Given the description of an element on the screen output the (x, y) to click on. 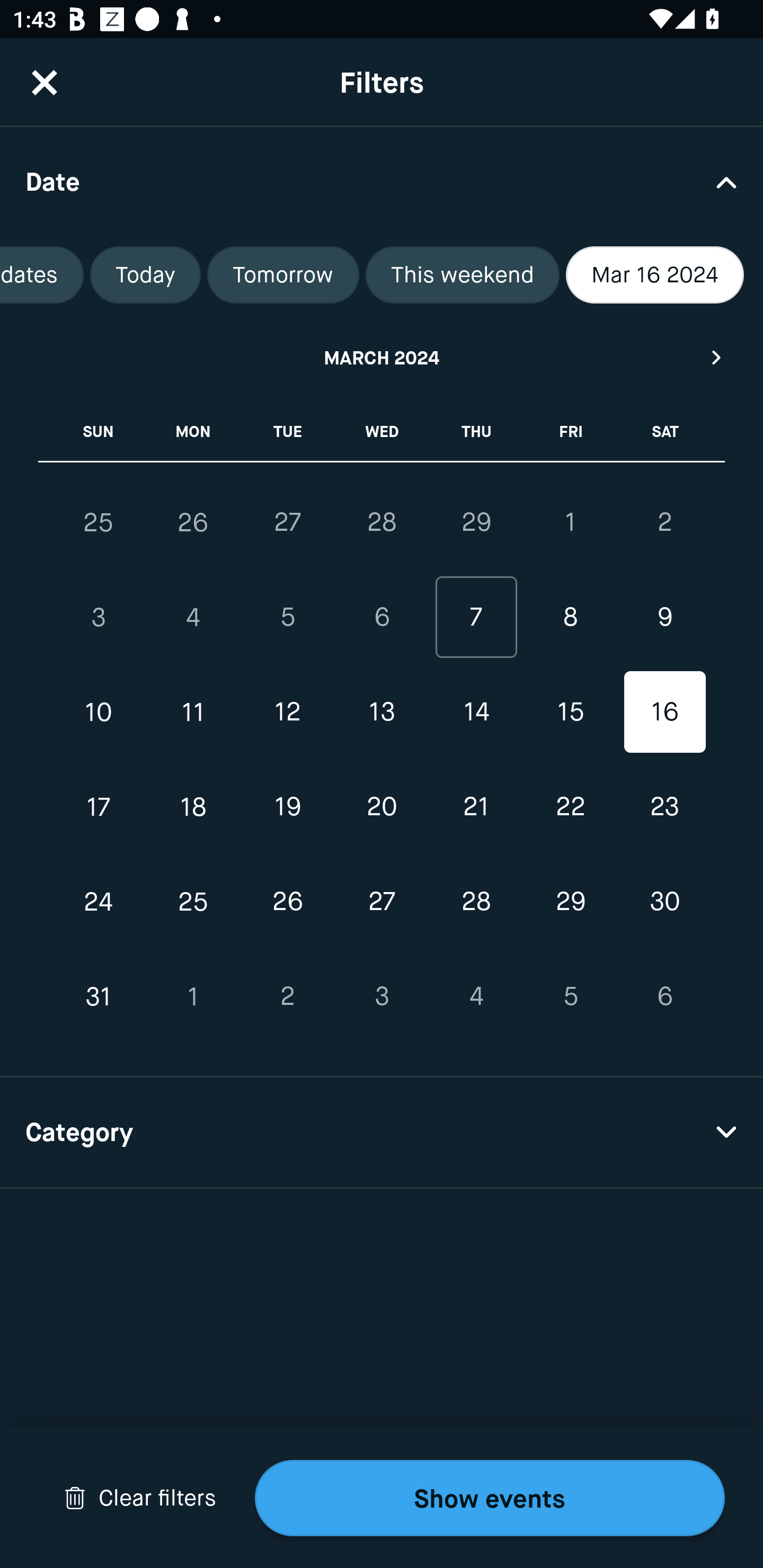
CloseButton (44, 82)
Date Drop Down Arrow (381, 181)
Today (145, 274)
Tomorrow (283, 274)
This weekend (462, 274)
Mar 16 2024 (654, 274)
Next (717, 357)
25 (98, 522)
26 (192, 522)
27 (287, 522)
28 (381, 522)
29 (475, 522)
1 (570, 522)
2 (664, 522)
3 (98, 617)
4 (192, 617)
5 (287, 617)
6 (381, 617)
7 (475, 617)
8 (570, 617)
9 (664, 617)
10 (98, 711)
11 (192, 711)
12 (287, 711)
13 (381, 711)
14 (475, 711)
15 (570, 711)
16 (664, 711)
17 (98, 806)
18 (192, 806)
19 (287, 806)
20 (381, 806)
21 (475, 806)
22 (570, 806)
23 (664, 806)
24 (98, 901)
25 (192, 901)
26 (287, 901)
27 (381, 901)
28 (475, 901)
29 (570, 901)
30 (664, 901)
31 (98, 996)
1 (192, 996)
2 (287, 996)
3 (381, 996)
4 (475, 996)
5 (570, 996)
6 (664, 996)
Category Drop Down Arrow (381, 1132)
Drop Down Arrow Clear filters (139, 1497)
Show events (489, 1497)
